Given the description of an element on the screen output the (x, y) to click on. 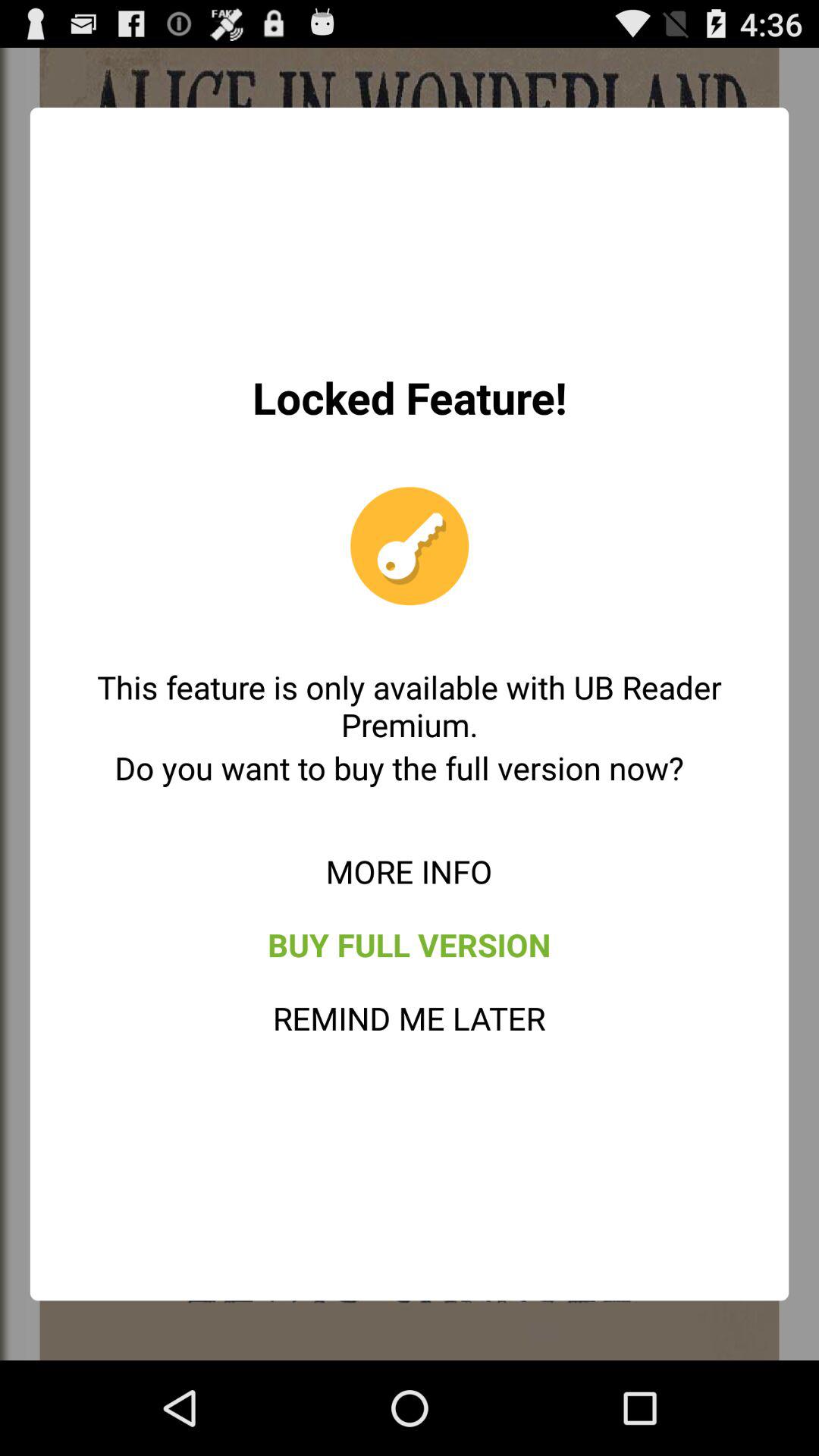
select remind me later at the bottom (409, 1017)
